Given the description of an element on the screen output the (x, y) to click on. 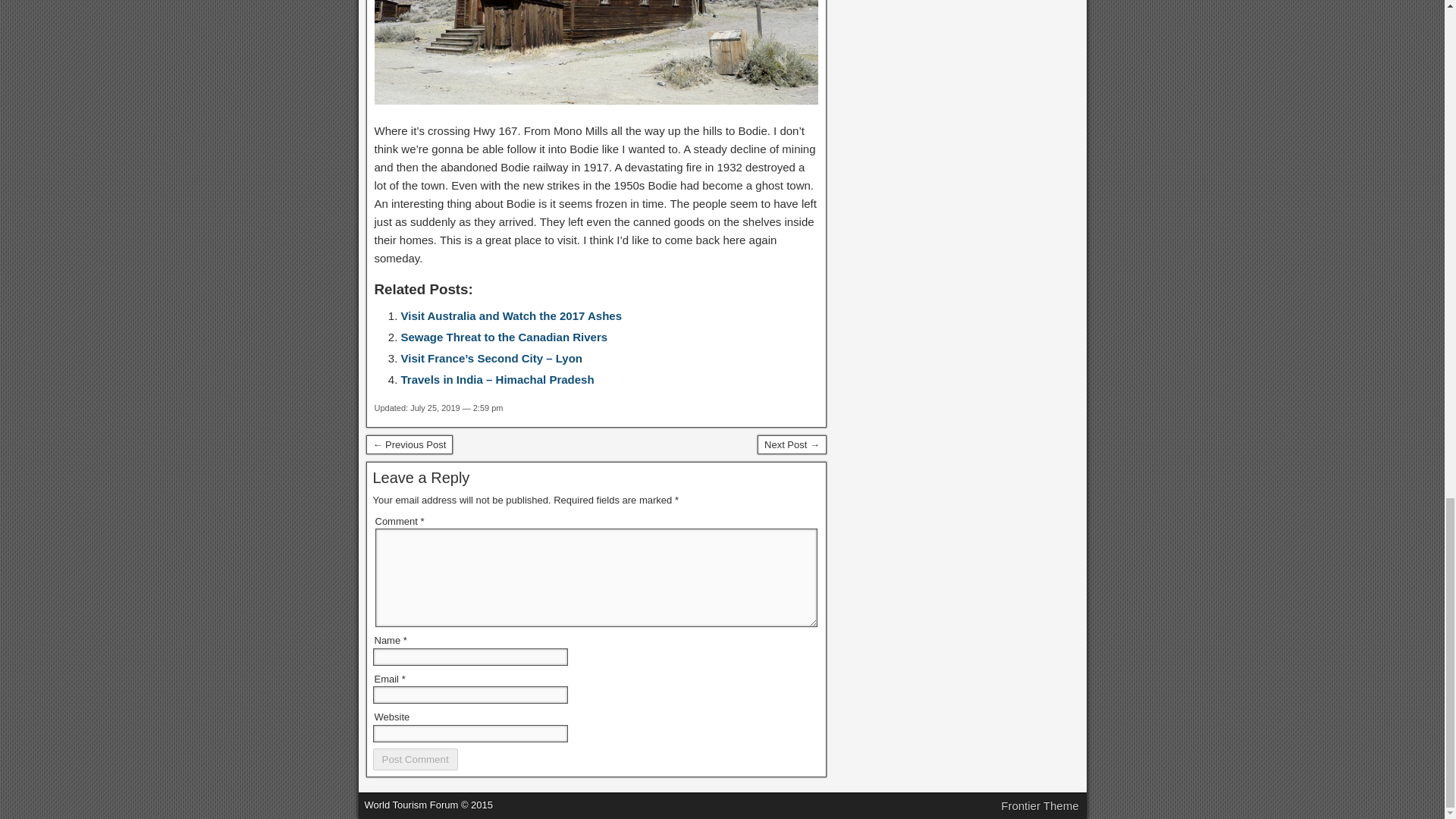
Post Comment (415, 759)
Japan Welcomes the Rugby World Cup in 2019 (792, 444)
North East Indian Tourist Destinations (408, 444)
Post Comment (415, 759)
Sewage Threat to the Canadian Rivers (503, 336)
Frontier Theme (1039, 805)
Visit Australia and Watch the 2017 Ashes (510, 315)
Visit Australia and Watch the 2017 Ashes (510, 315)
Sewage Threat to the Canadian Rivers (503, 336)
